Given the description of an element on the screen output the (x, y) to click on. 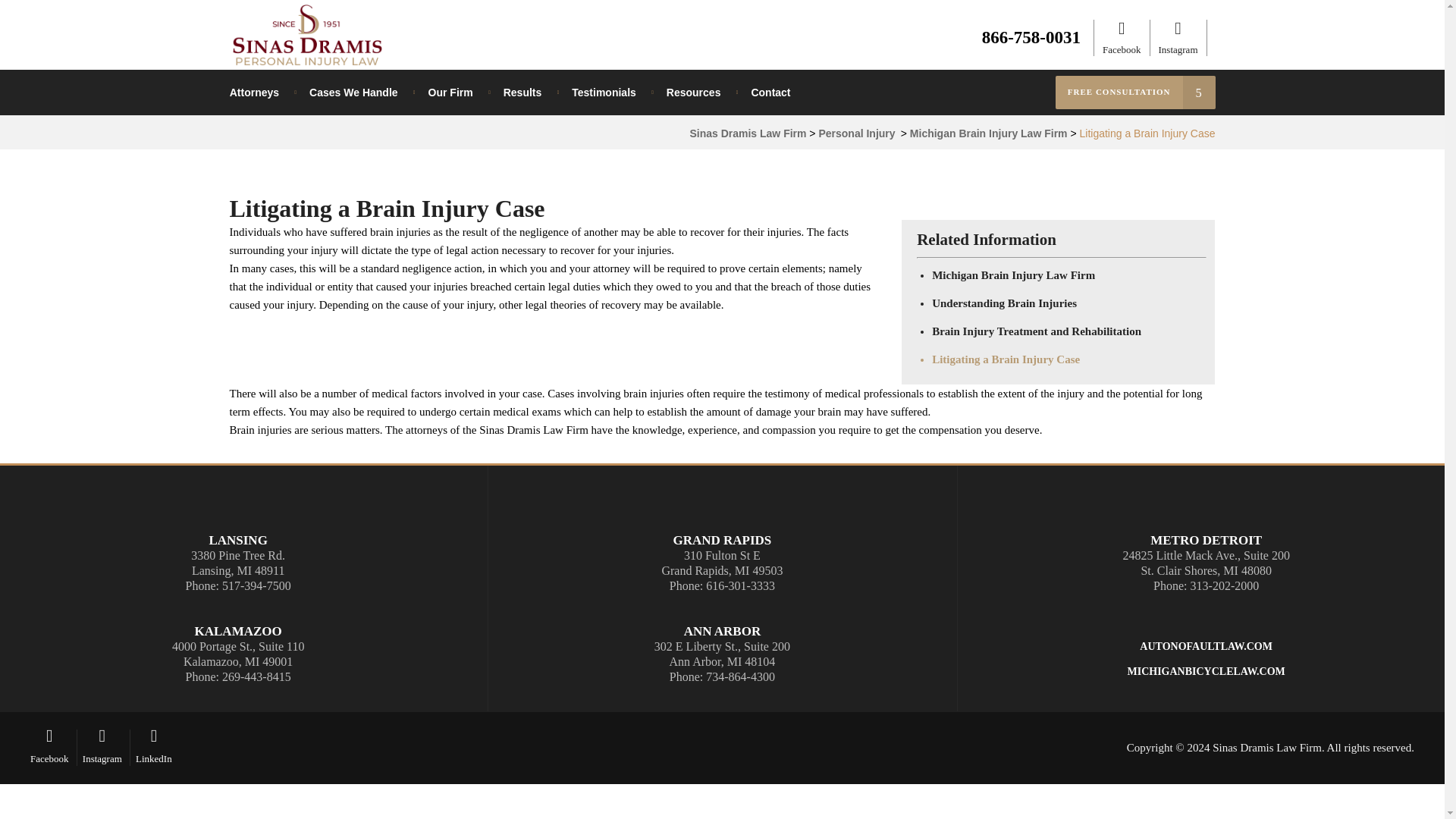
Our Firm (450, 92)
Cases We Handle (353, 92)
866-758-0031 (1030, 36)
Attorneys (262, 92)
